Given the description of an element on the screen output the (x, y) to click on. 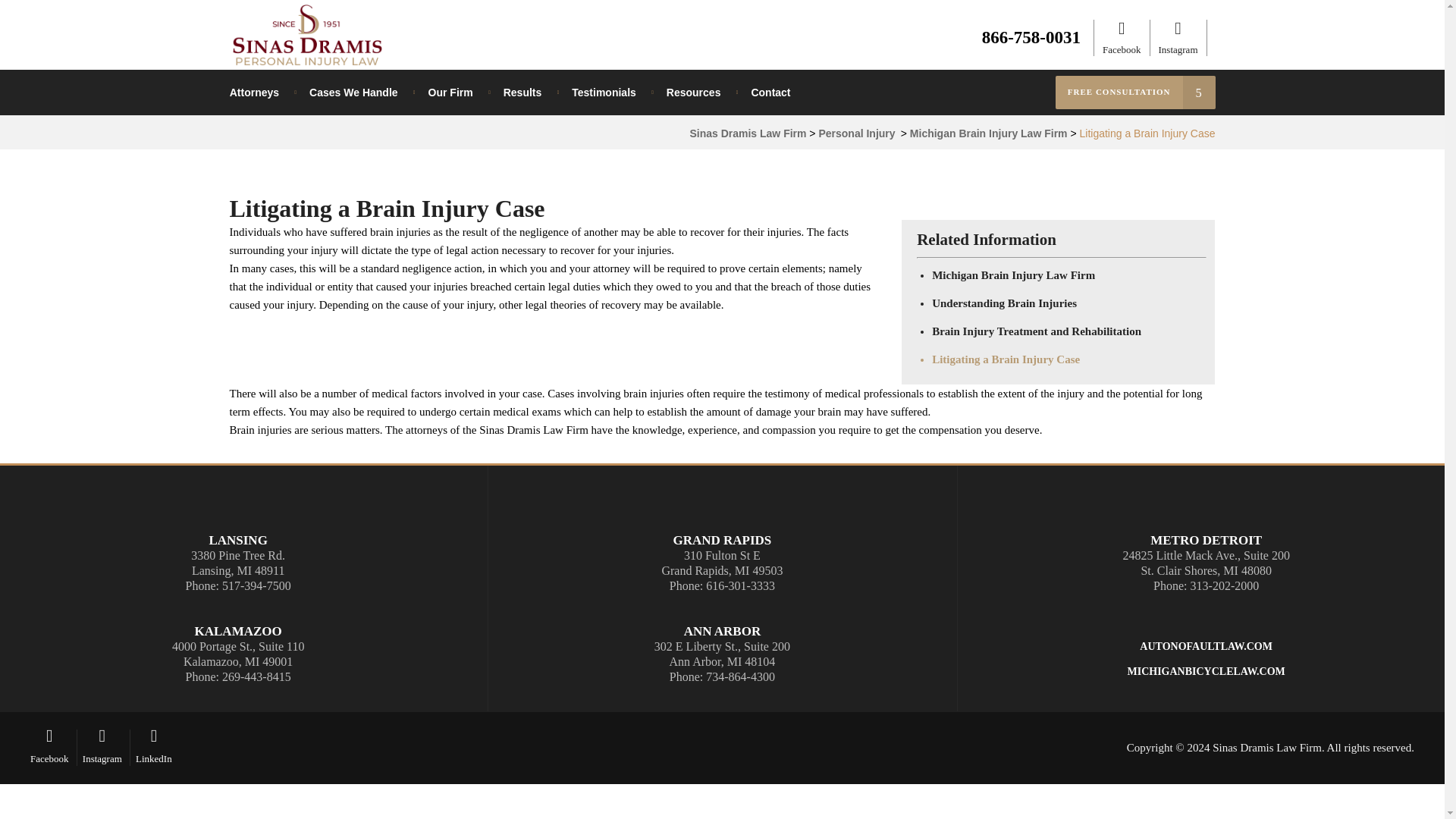
Our Firm (450, 92)
Cases We Handle (353, 92)
866-758-0031 (1030, 36)
Attorneys (262, 92)
